Given the description of an element on the screen output the (x, y) to click on. 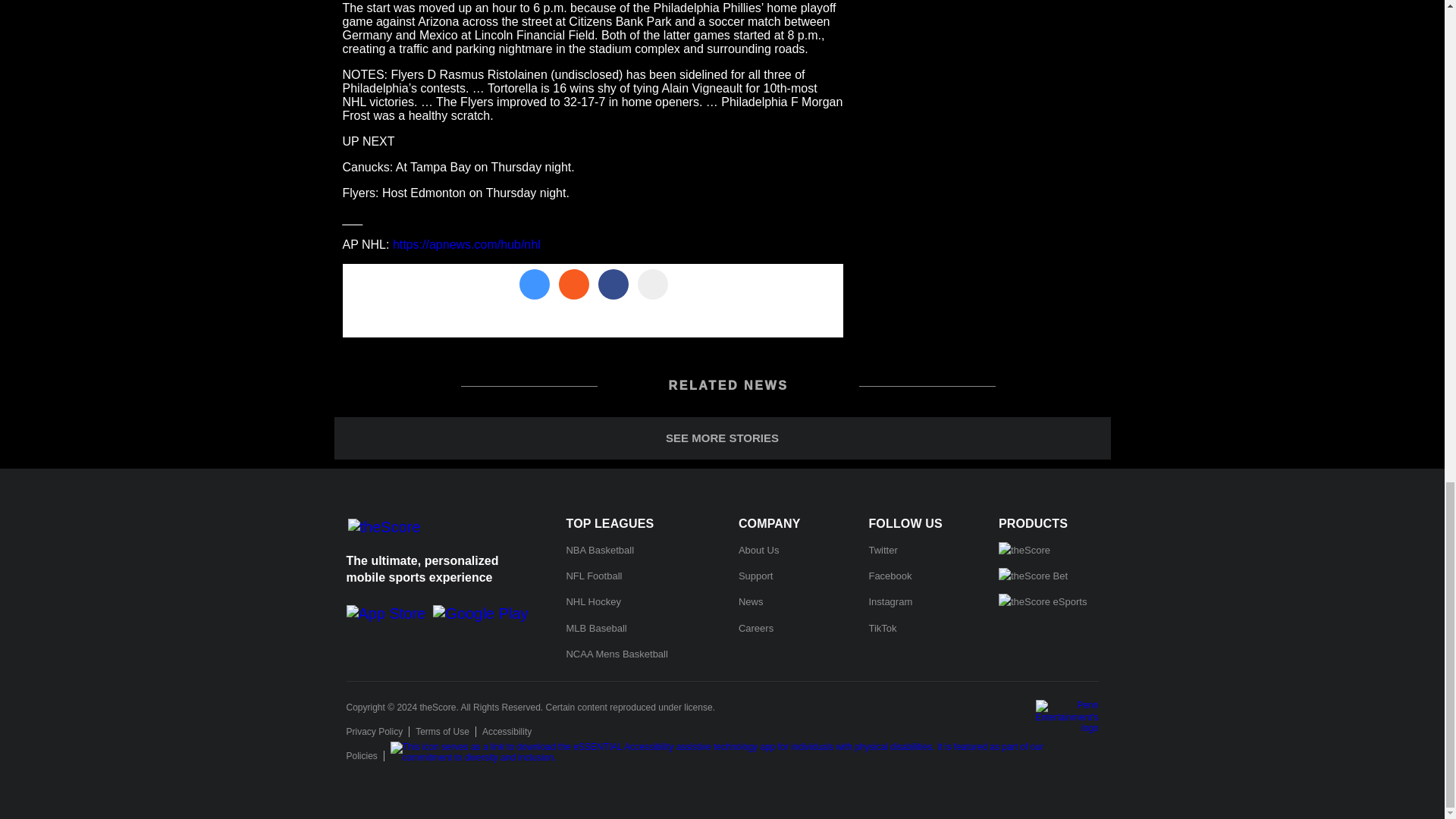
Instagram (889, 601)
SEE MORE STORIES (721, 437)
Facebook (889, 575)
NCAA Mens Basketball (616, 654)
TikTok (881, 627)
Email (652, 284)
Careers (755, 627)
News (750, 601)
Support (755, 575)
About Us (758, 550)
